Given the description of an element on the screen output the (x, y) to click on. 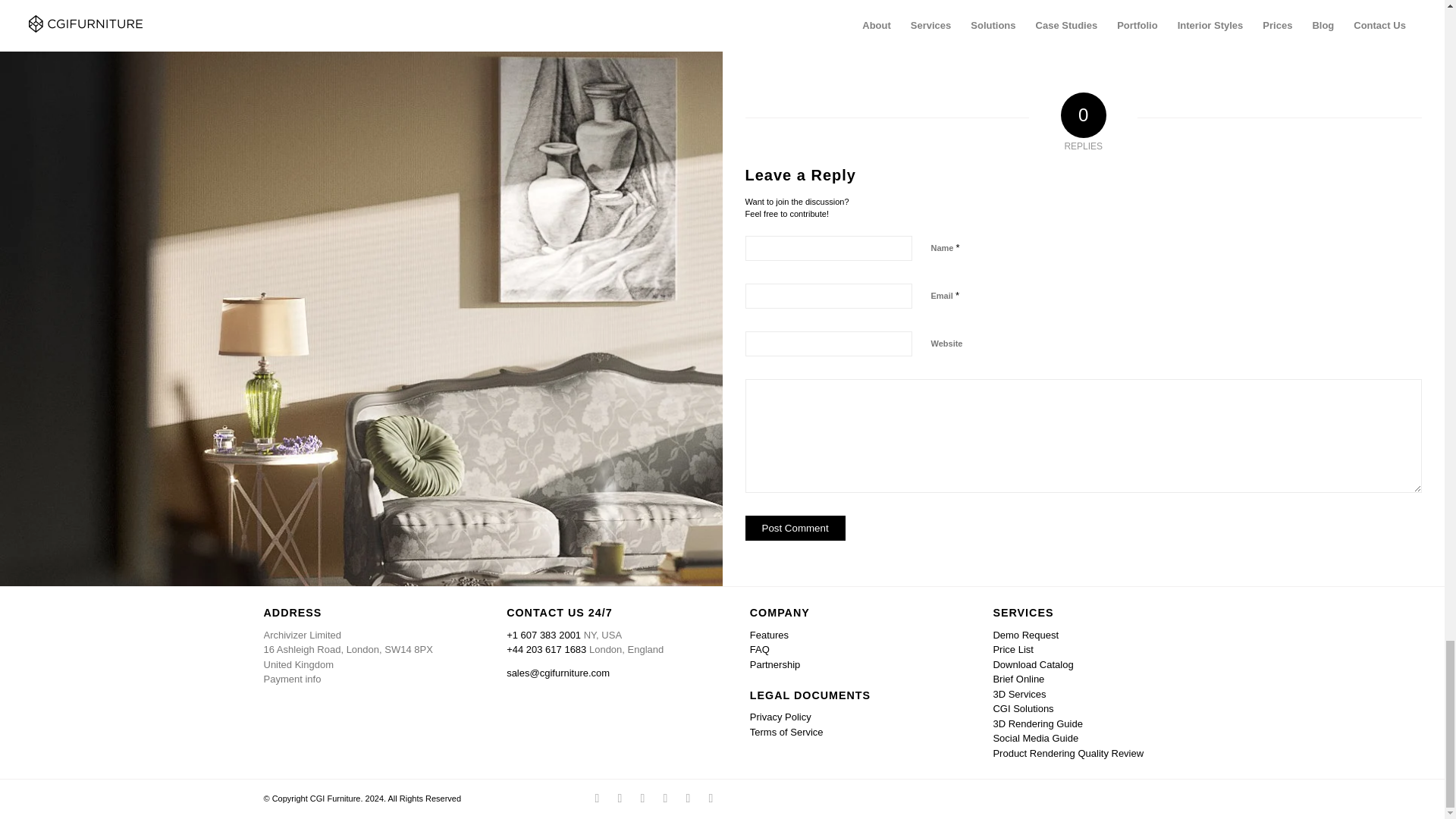
CGI Solutions (1022, 708)
FAQ (759, 649)
Features (769, 634)
Product Rendering Quality Review (1067, 753)
Vimeo (710, 798)
Brief Online (1017, 678)
Terms of Service (786, 731)
Social Media Guide (1035, 737)
Partnership (774, 664)
Demo Request (1025, 634)
3D Services (1018, 694)
LinkedIn (619, 798)
Facebook (596, 798)
Privacy Policy (779, 716)
Post Comment (794, 527)
